Given the description of an element on the screen output the (x, y) to click on. 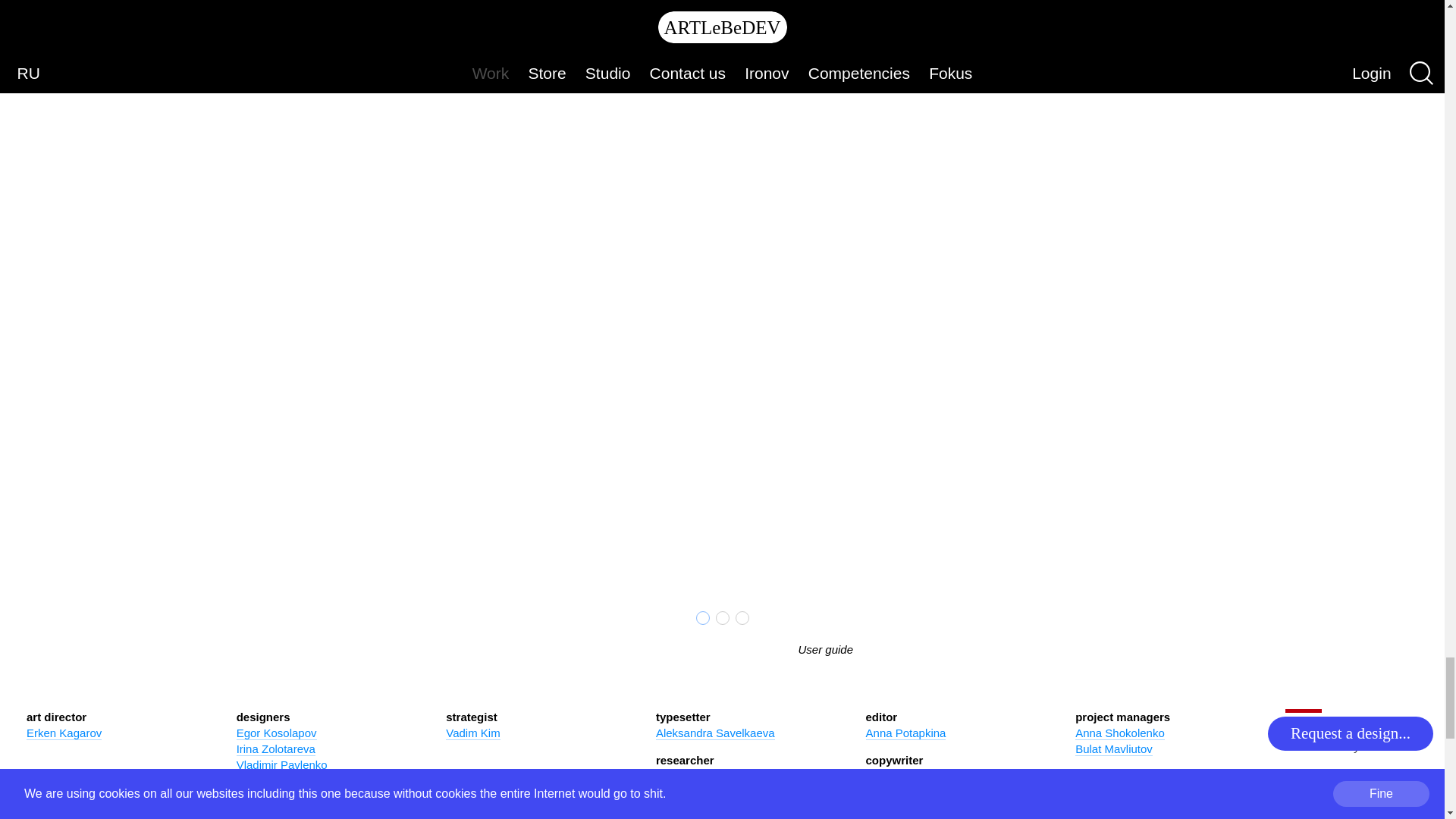
Irina Zolotareva (275, 748)
Vadim Kim (472, 733)
Anna Potapkina (906, 733)
Aleksandra Savelkaeva (715, 733)
Bulat Mavliutov (1114, 748)
Anna Shokolenko (1119, 733)
Egor Kosolapov (276, 733)
Vladimir Pavlenko (281, 765)
Ksenia Lazareva (908, 775)
Anastasia Bordunova (710, 775)
